Given the description of an element on the screen output the (x, y) to click on. 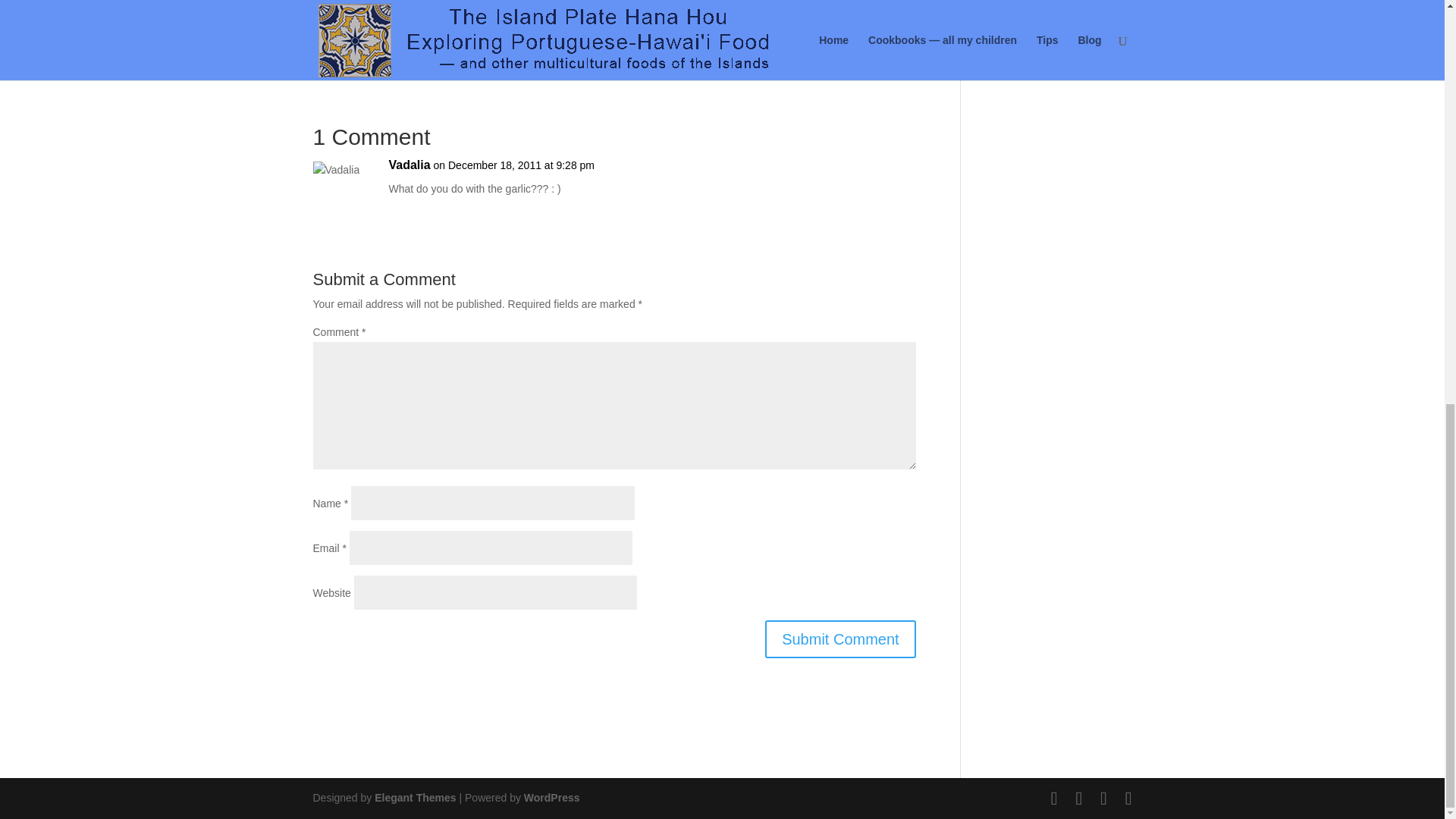
Submit Comment (840, 638)
Premium WordPress Themes (414, 797)
Submit Comment (840, 638)
WordPress (551, 797)
Elegant Themes (414, 797)
